Given the description of an element on the screen output the (x, y) to click on. 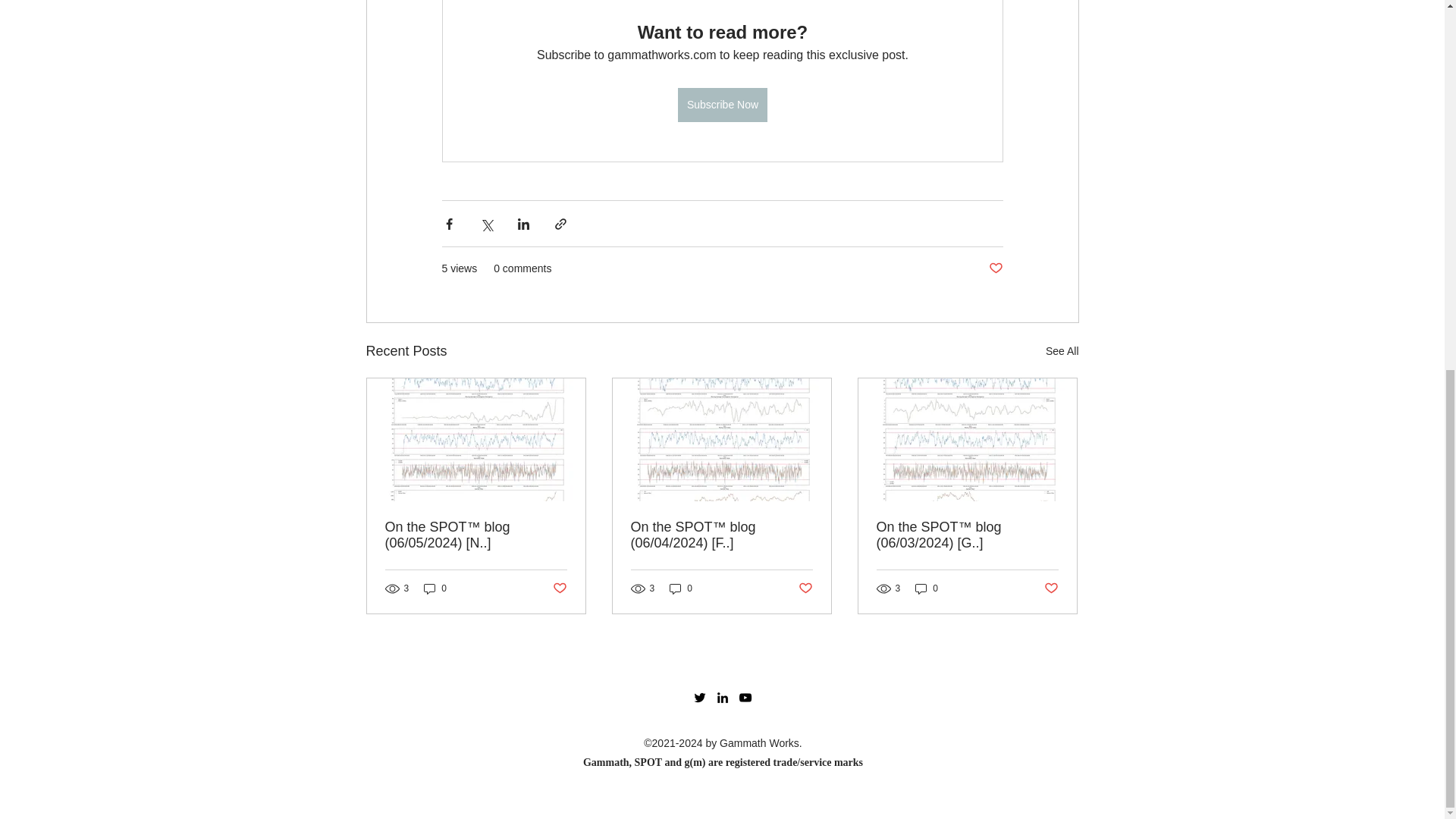
Post not marked as liked (1050, 588)
Post not marked as liked (558, 588)
See All (1061, 351)
0 (435, 588)
0 (926, 588)
Post not marked as liked (804, 588)
Subscribe Now (722, 104)
0 (681, 588)
Post not marked as liked (995, 268)
